Given the description of an element on the screen output the (x, y) to click on. 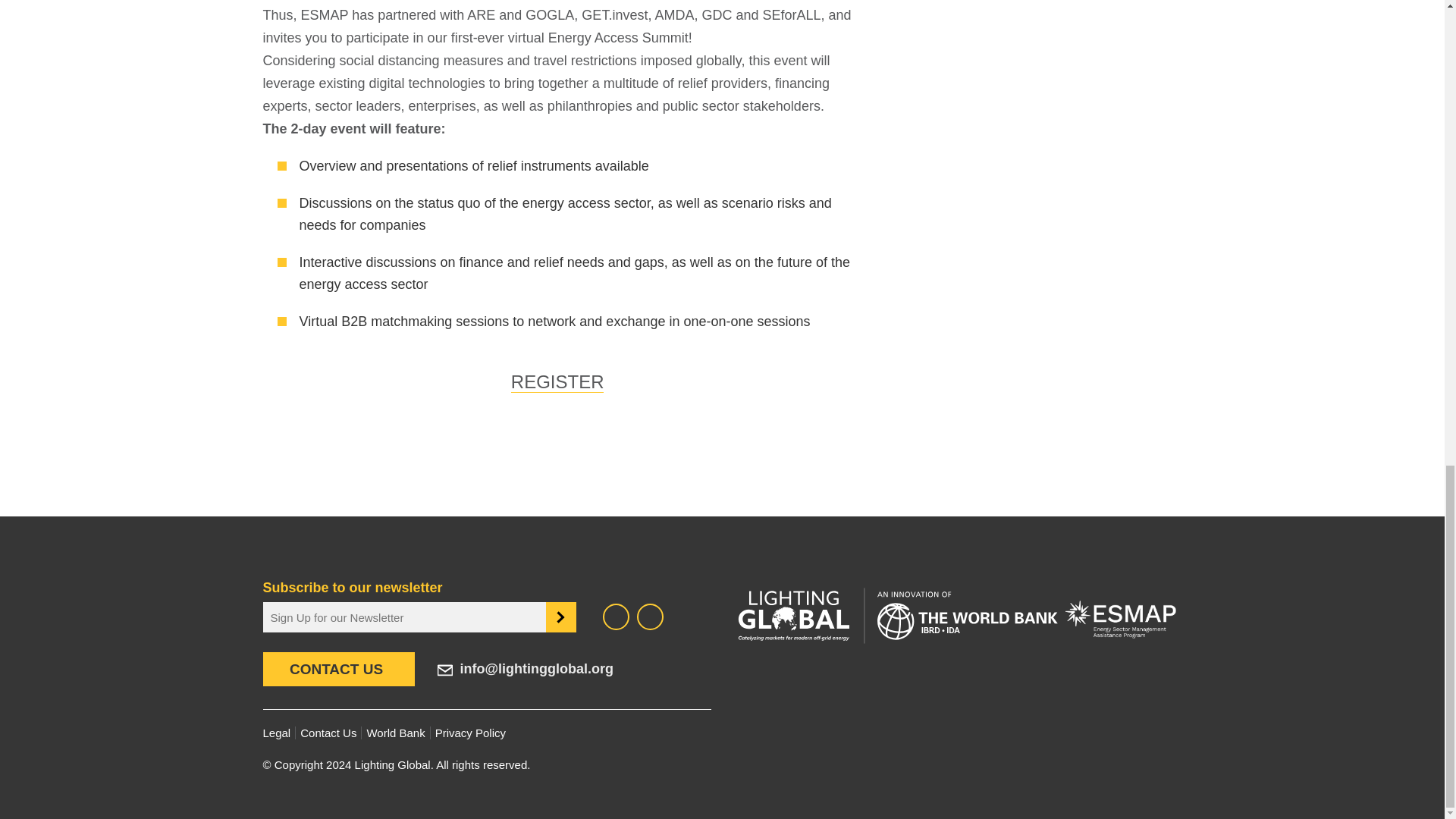
REGISTER (557, 382)
